Given the description of an element on the screen output the (x, y) to click on. 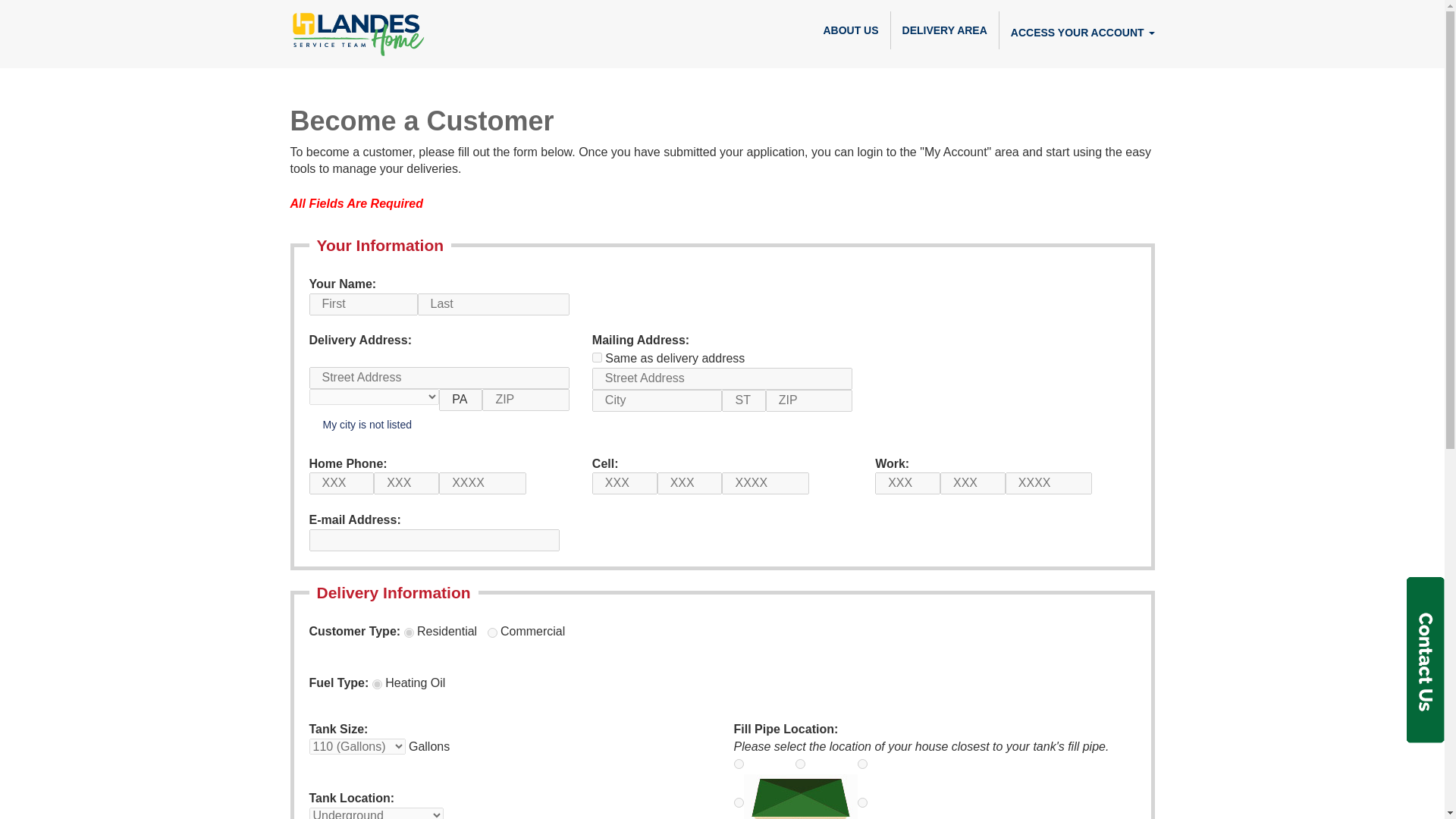
DELIVERY AREA (944, 30)
ACCESS YOUR ACCOUNT (1082, 31)
PA (460, 400)
My city is not listed (366, 425)
on (597, 357)
IT Landes Oil (382, 18)
ABOUT US (849, 30)
